Given the description of an element on the screen output the (x, y) to click on. 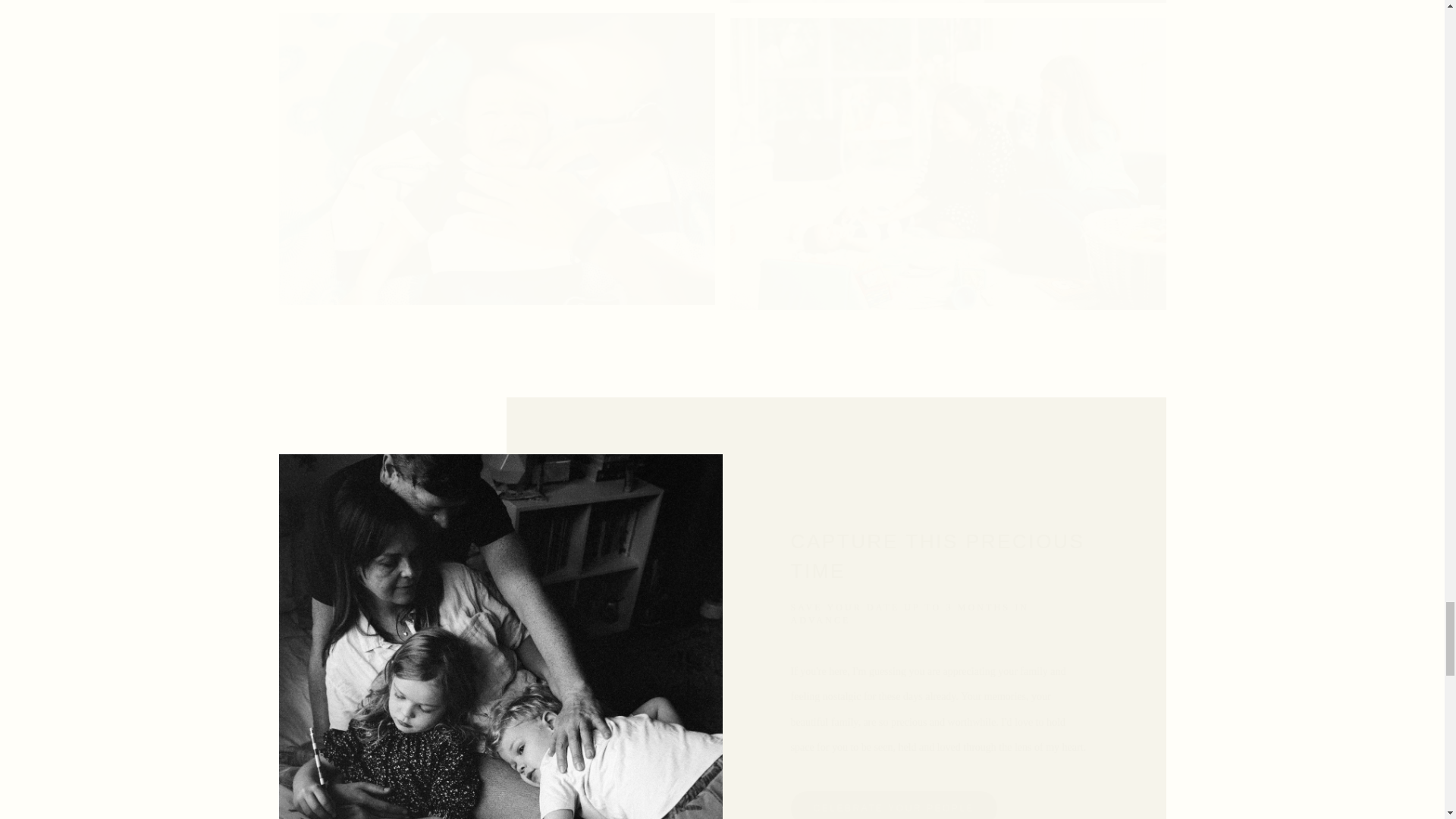
CELEBRATE YOUR PEOPLE (893, 805)
